Given the description of an element on the screen output the (x, y) to click on. 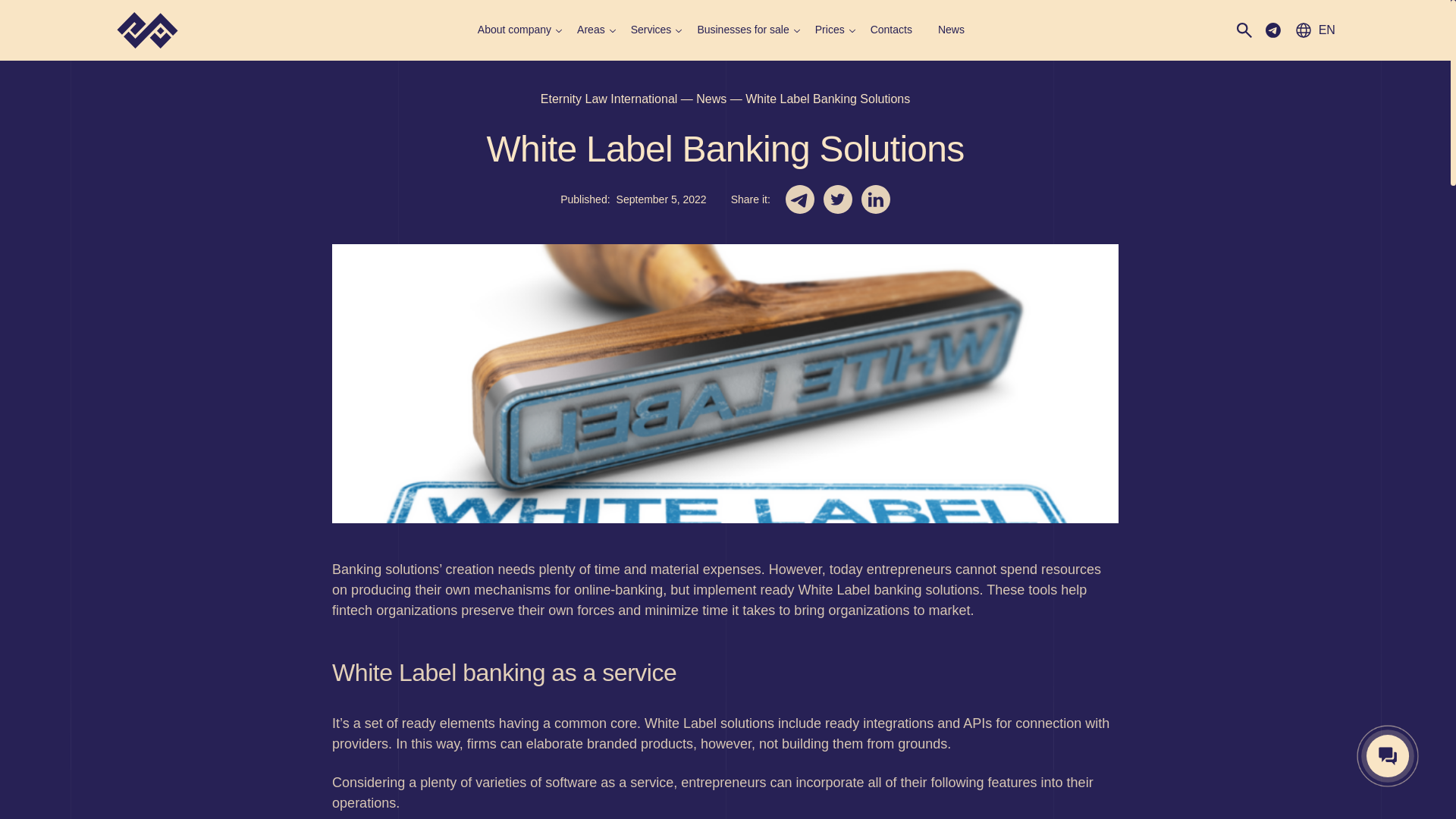
Eternity Law International (609, 98)
News (710, 98)
